Given the description of an element on the screen output the (x, y) to click on. 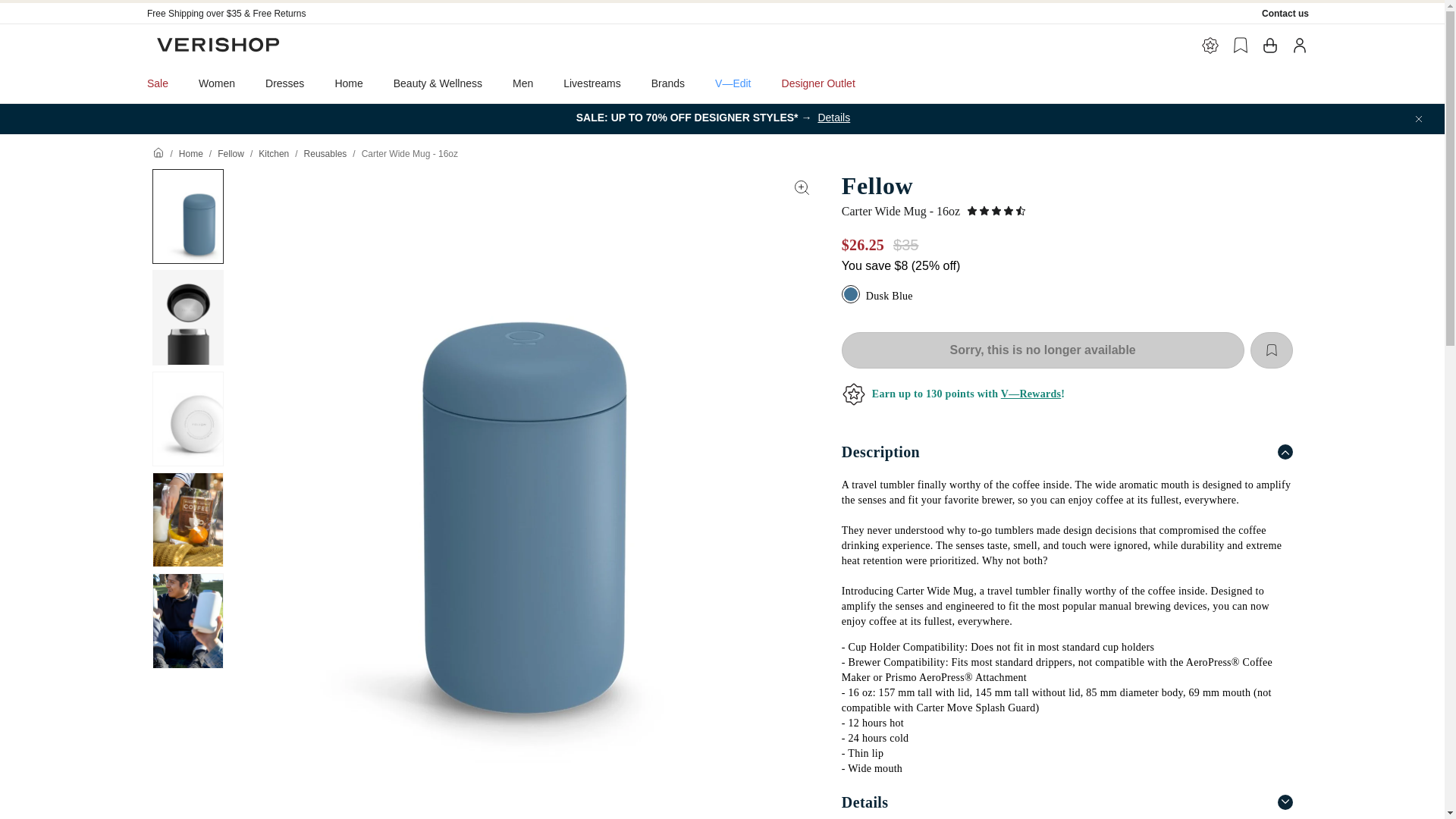
Kitchen (273, 153)
Dusk Blue (852, 295)
Sorry, this is no longer available (1042, 350)
Livestreams (591, 82)
Description (1066, 451)
Fellow (230, 153)
Free Returns (278, 13)
Contact us (1285, 13)
Details (1066, 797)
Dresses (284, 82)
